Given the description of an element on the screen output the (x, y) to click on. 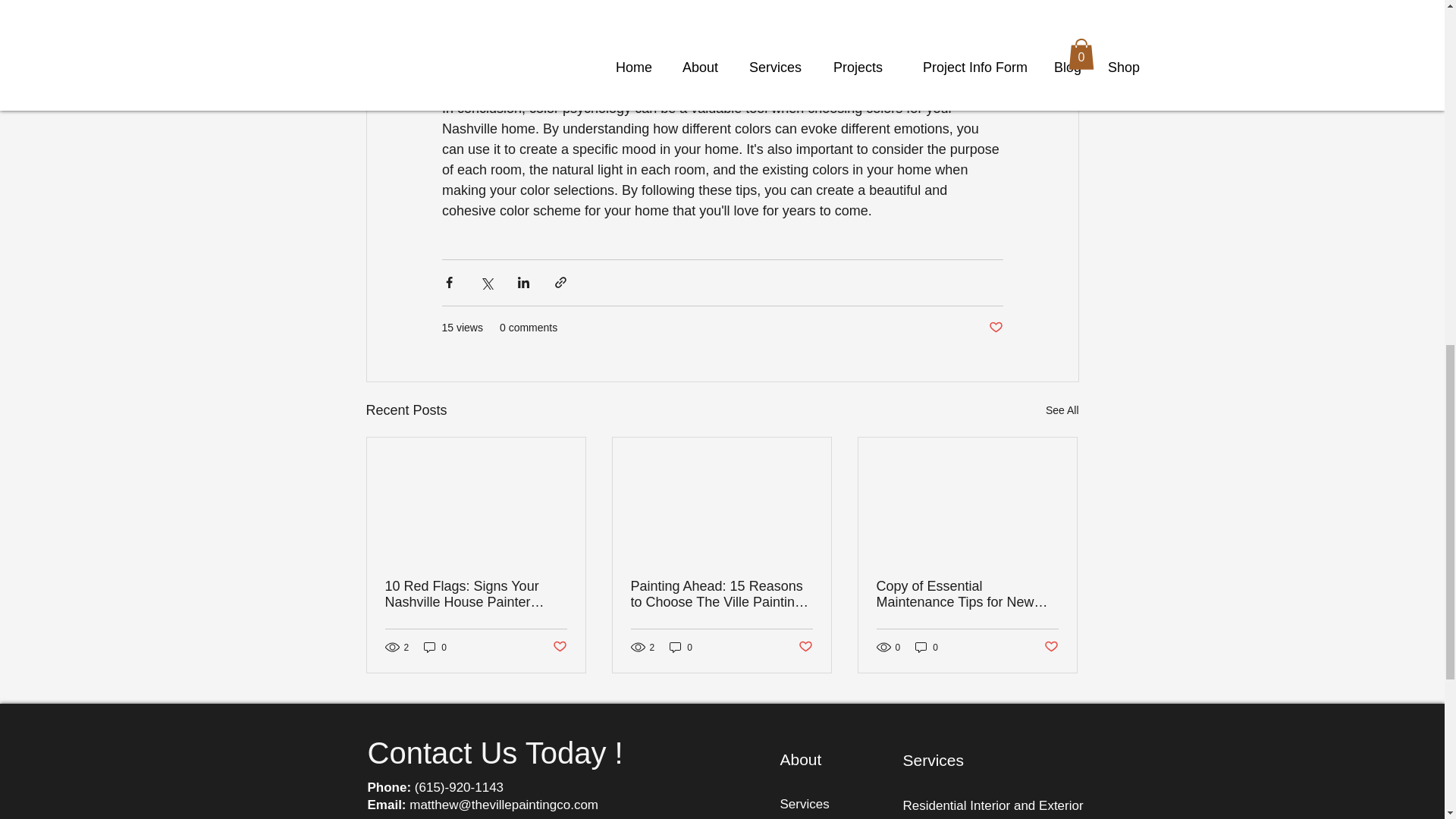
Post not marked as liked (1050, 647)
Services (803, 803)
Post not marked as liked (995, 327)
0 (435, 646)
Post not marked as liked (558, 647)
0 (926, 646)
See All (1061, 410)
0 (681, 646)
Post not marked as liked (804, 647)
